Given the description of an element on the screen output the (x, y) to click on. 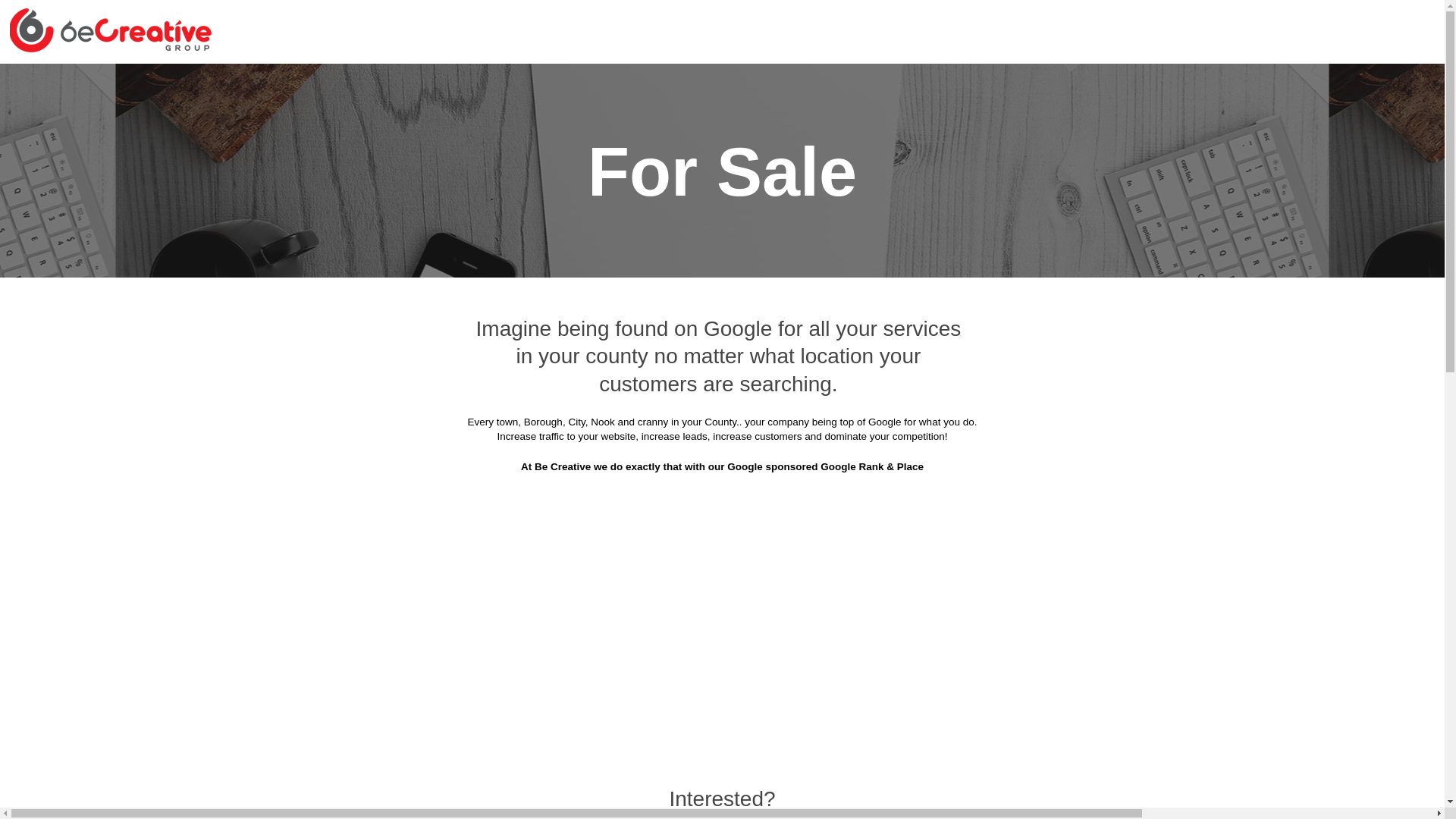
Aggregate Suppliers Cornwall (488, 83)
Aggregate Suppliers Kingsteignton Devon (388, 422)
Aggregate Suppliers Fowey Cornwall (824, 309)
Aggregate Suppliers Bovey Tracey Devon (1070, 121)
Aggregate Suppliers Falmouth Cornwall (600, 309)
Aggregate Suppliers Brixham Devon (632, 158)
Aggregate Suppliers Chulmleigh Devon (850, 234)
Aggregate Suppliers Devon (660, 83)
Aggregate Suppliers Bideford Devon (617, 121)
Aggregate Suppliers Axminster Devon (1080, 83)
Aggregate Suppliers Great Torrington Devon (1062, 309)
Aggregate Suppliers Buckfastleigh Devon (860, 158)
Aggregate Suppliers Holsworthy Devon (1076, 346)
Aggregate Suppliers Camelford Cornwall (390, 234)
Aggregate Suppliers Ivybridge Devon (848, 383)
